Given the description of an element on the screen output the (x, y) to click on. 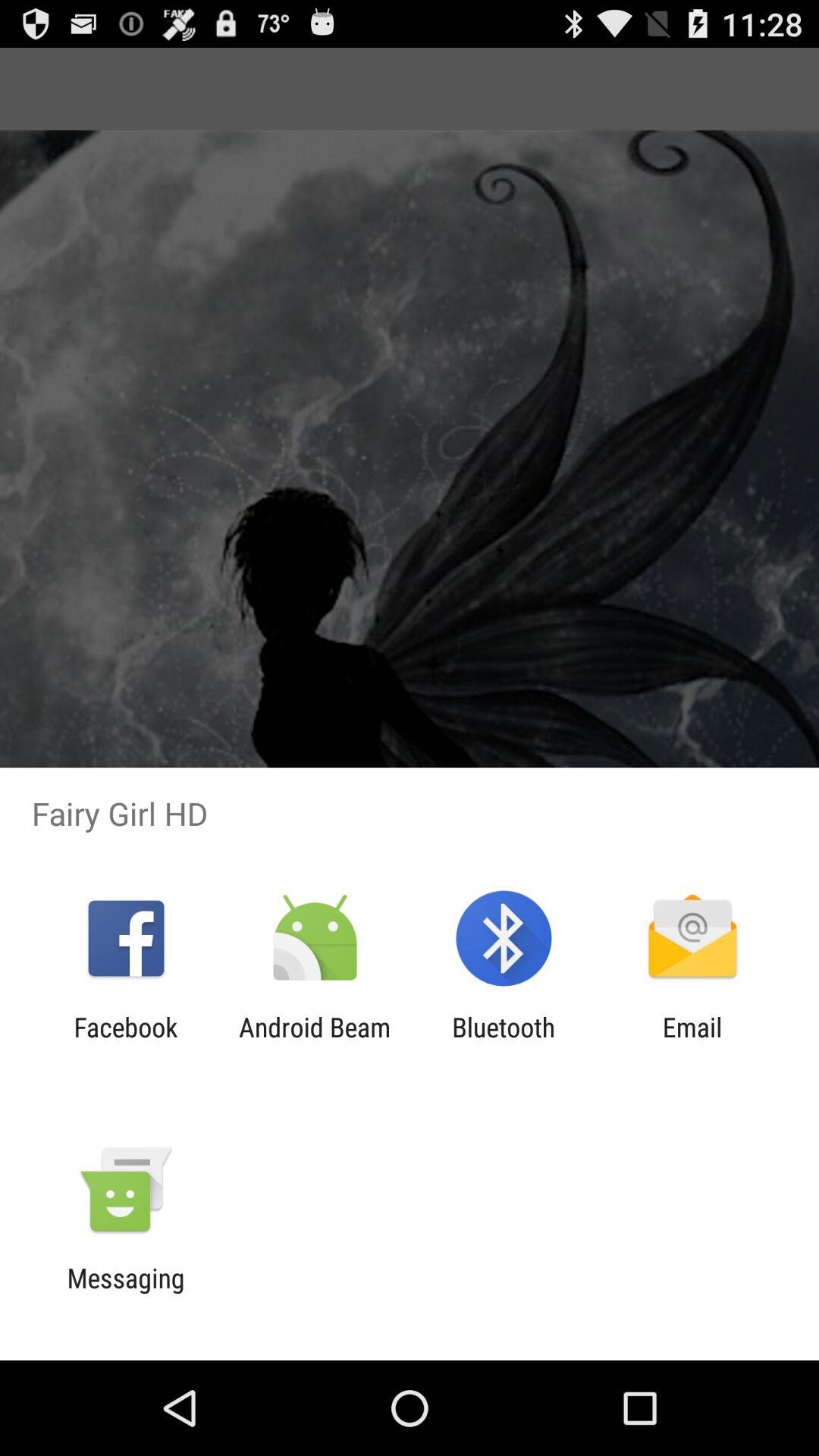
flip until the facebook icon (125, 1042)
